Given the description of an element on the screen output the (x, y) to click on. 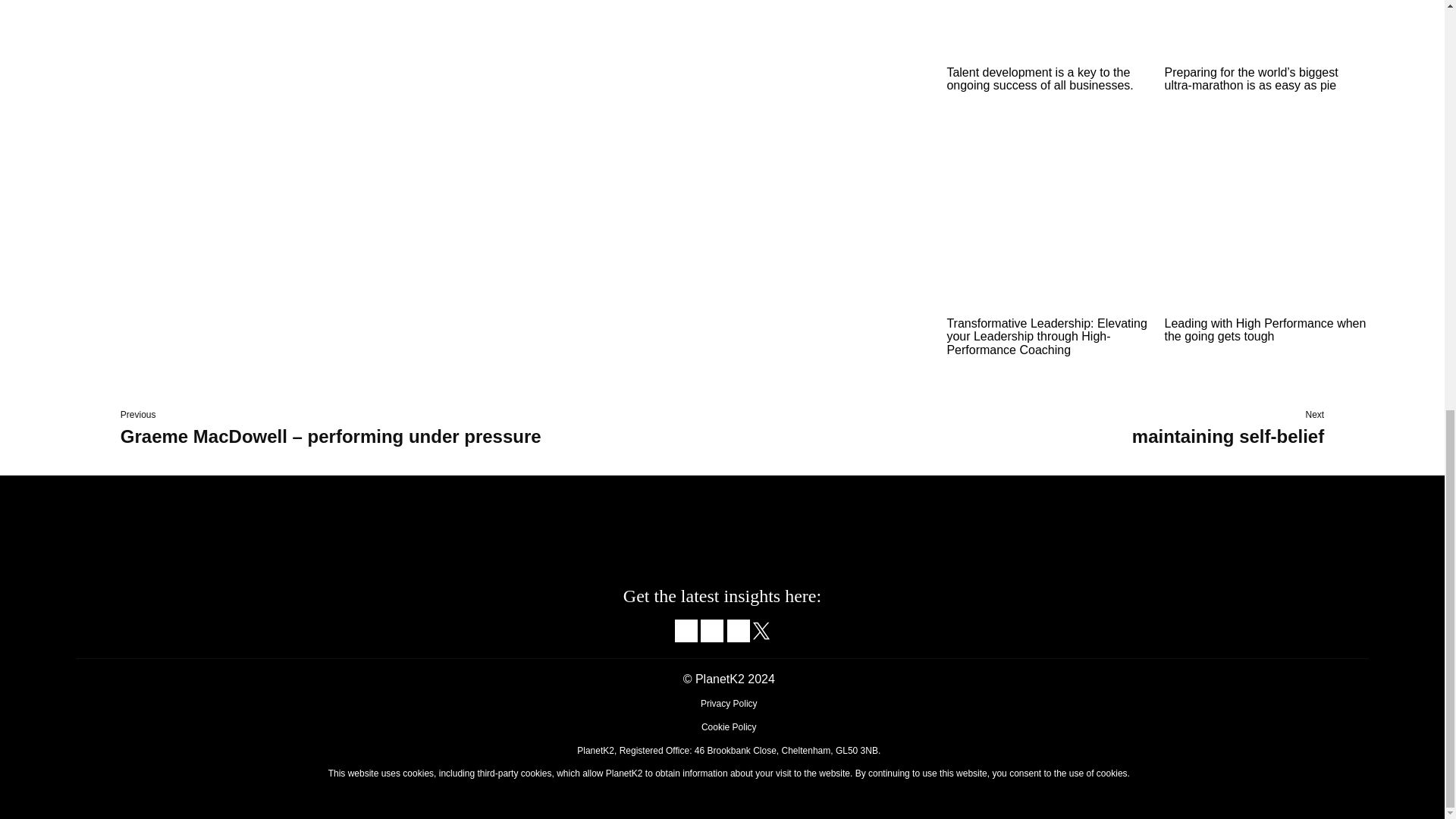
Privacy Policy (728, 703)
maintaining self-belief (1227, 435)
Cookie Policy (729, 726)
Leading with High Performance when the going gets tough (1264, 329)
Previous (137, 414)
Next (1315, 414)
